Given the description of an element on the screen output the (x, y) to click on. 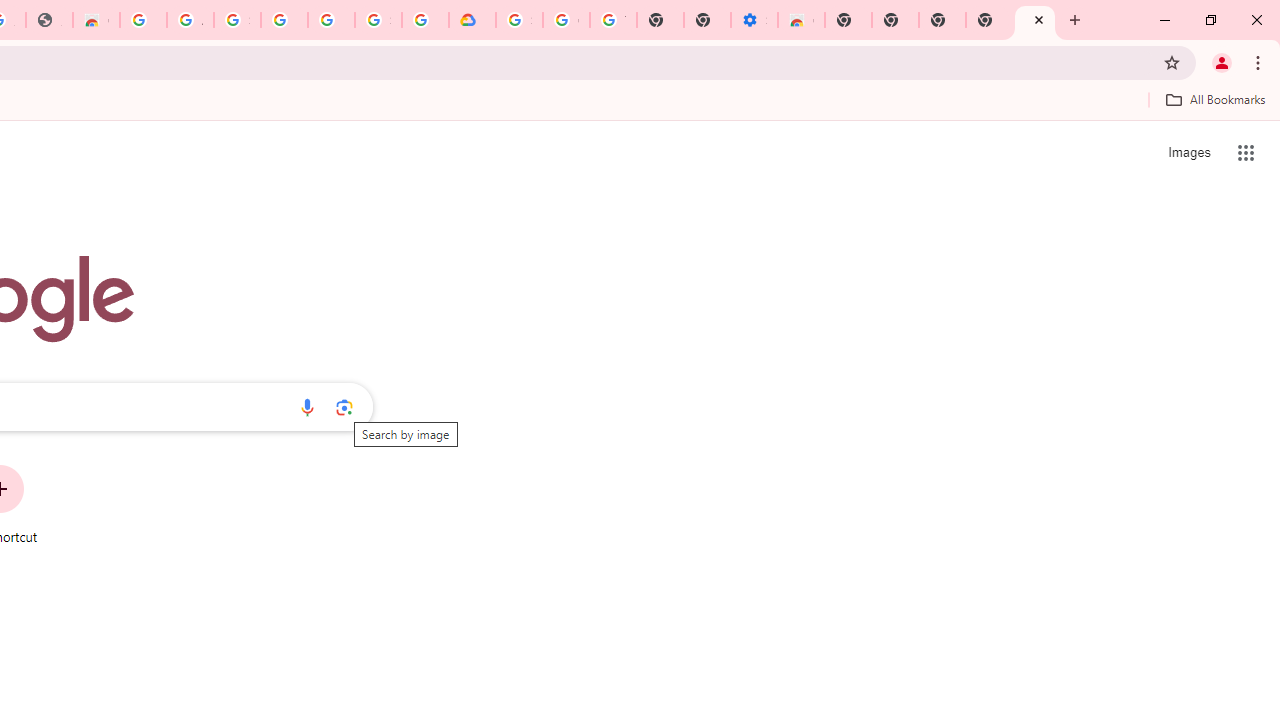
Google Account Help (566, 20)
Sign in - Google Accounts (237, 20)
Chrome Web Store - Household (96, 20)
Turn cookies on or off - Computer - Google Account Help (613, 20)
New Tab (989, 20)
New Tab (848, 20)
